Given the description of an element on the screen output the (x, y) to click on. 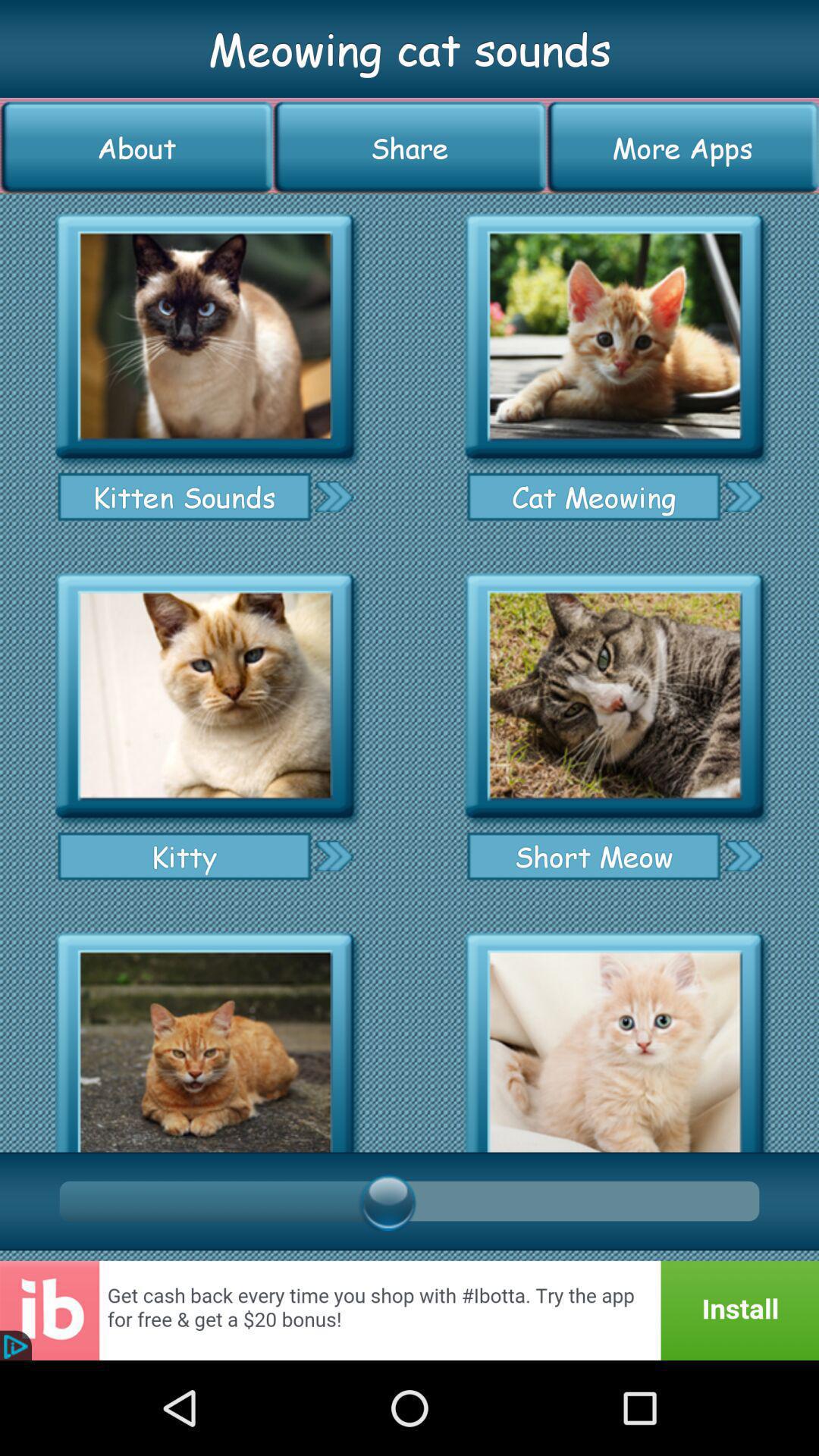
show sounds for this category (204, 1037)
